Given the description of an element on the screen output the (x, y) to click on. 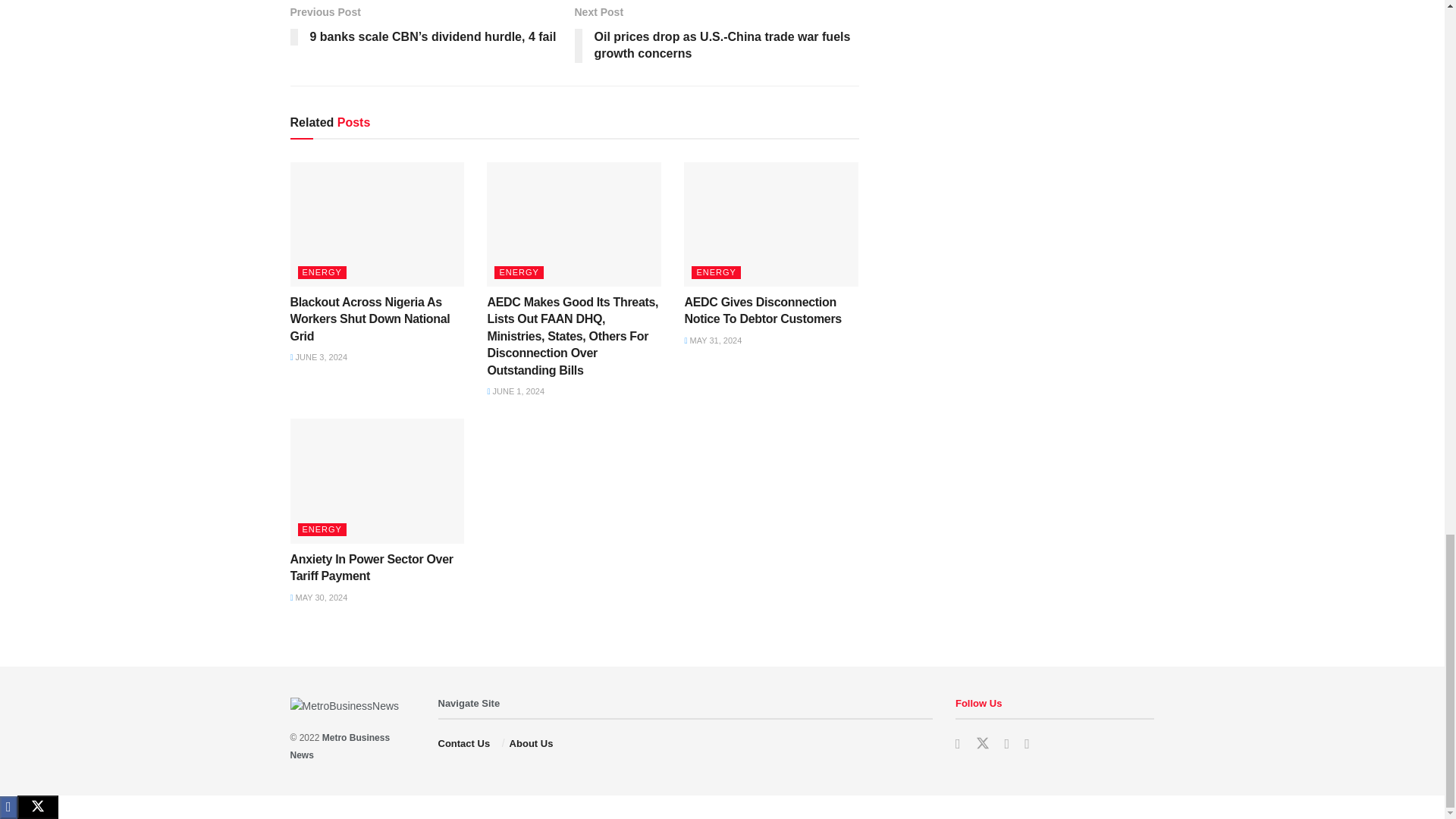
metrobusinessnews (339, 746)
metrobusinessnews (469, 703)
